Given the description of an element on the screen output the (x, y) to click on. 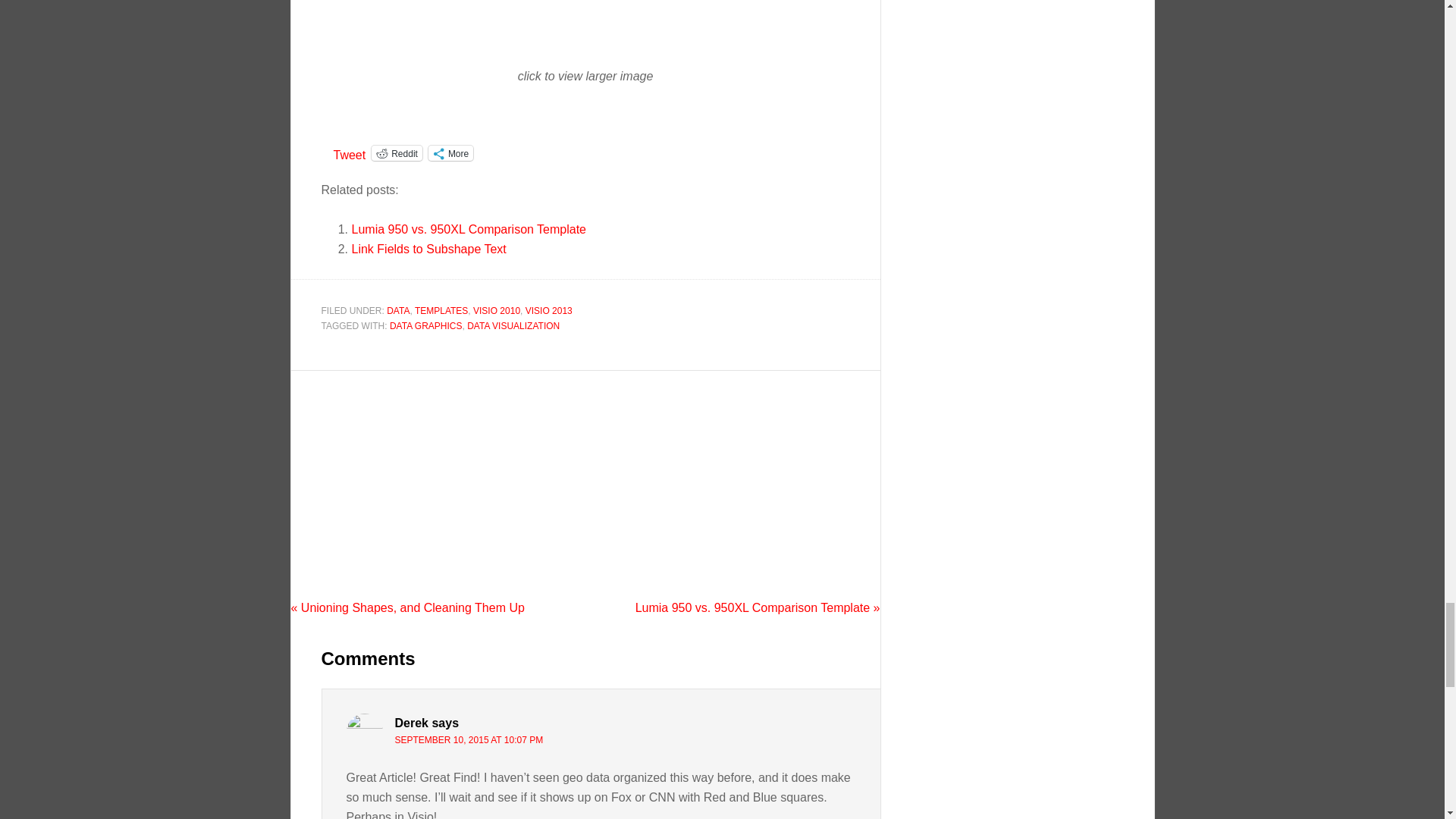
Click to share on Reddit (396, 152)
Link Fields to Subshape Text (429, 248)
Lumia 950 vs. 950XL Comparison Template (469, 228)
